Given the description of an element on the screen output the (x, y) to click on. 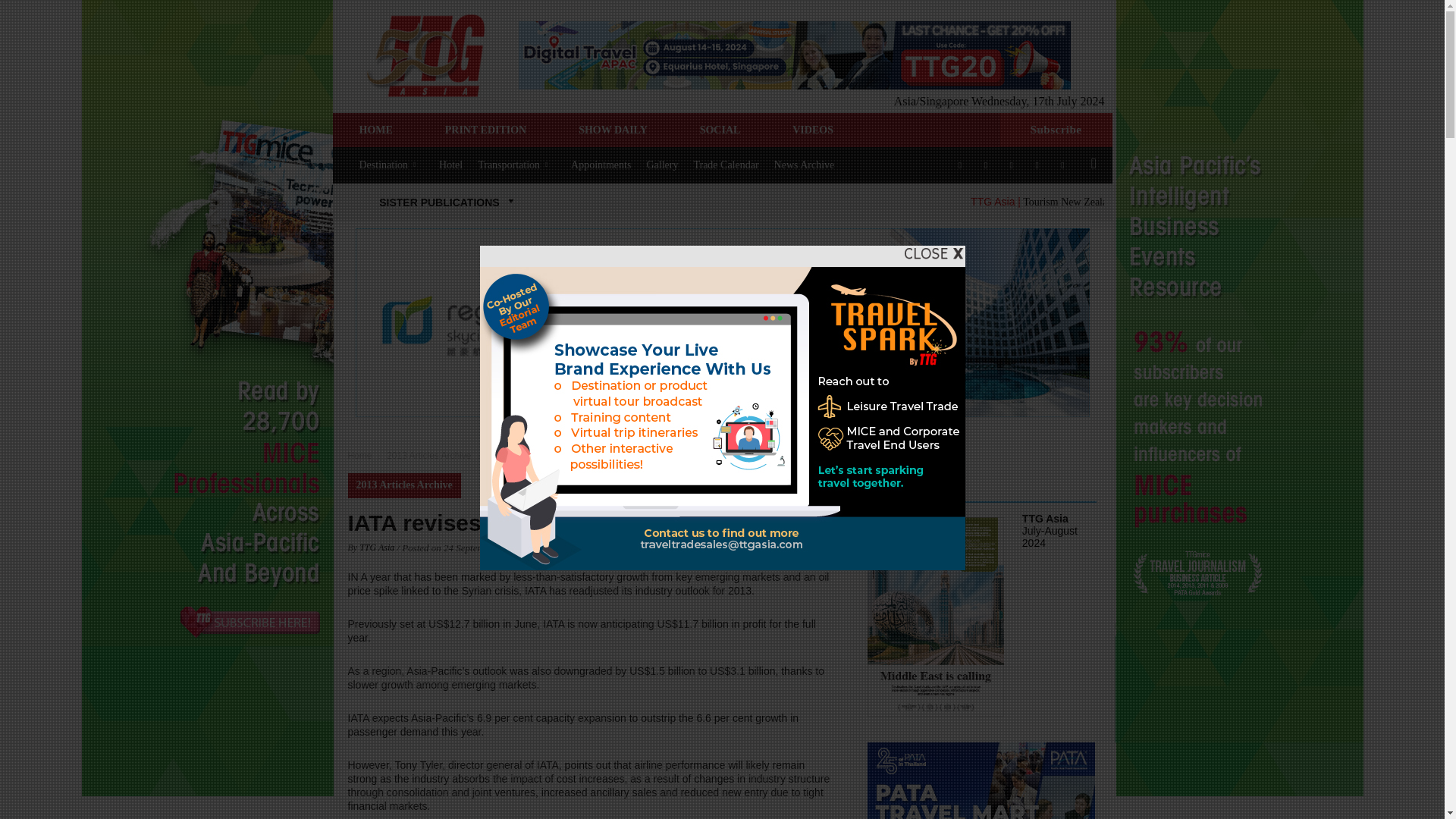
Facebook (960, 164)
Mail (1011, 164)
RSS (1037, 164)
Close Box (932, 253)
Instagram (985, 164)
Twitter (1062, 164)
TTG Asia (424, 54)
